Given the description of an element on the screen output the (x, y) to click on. 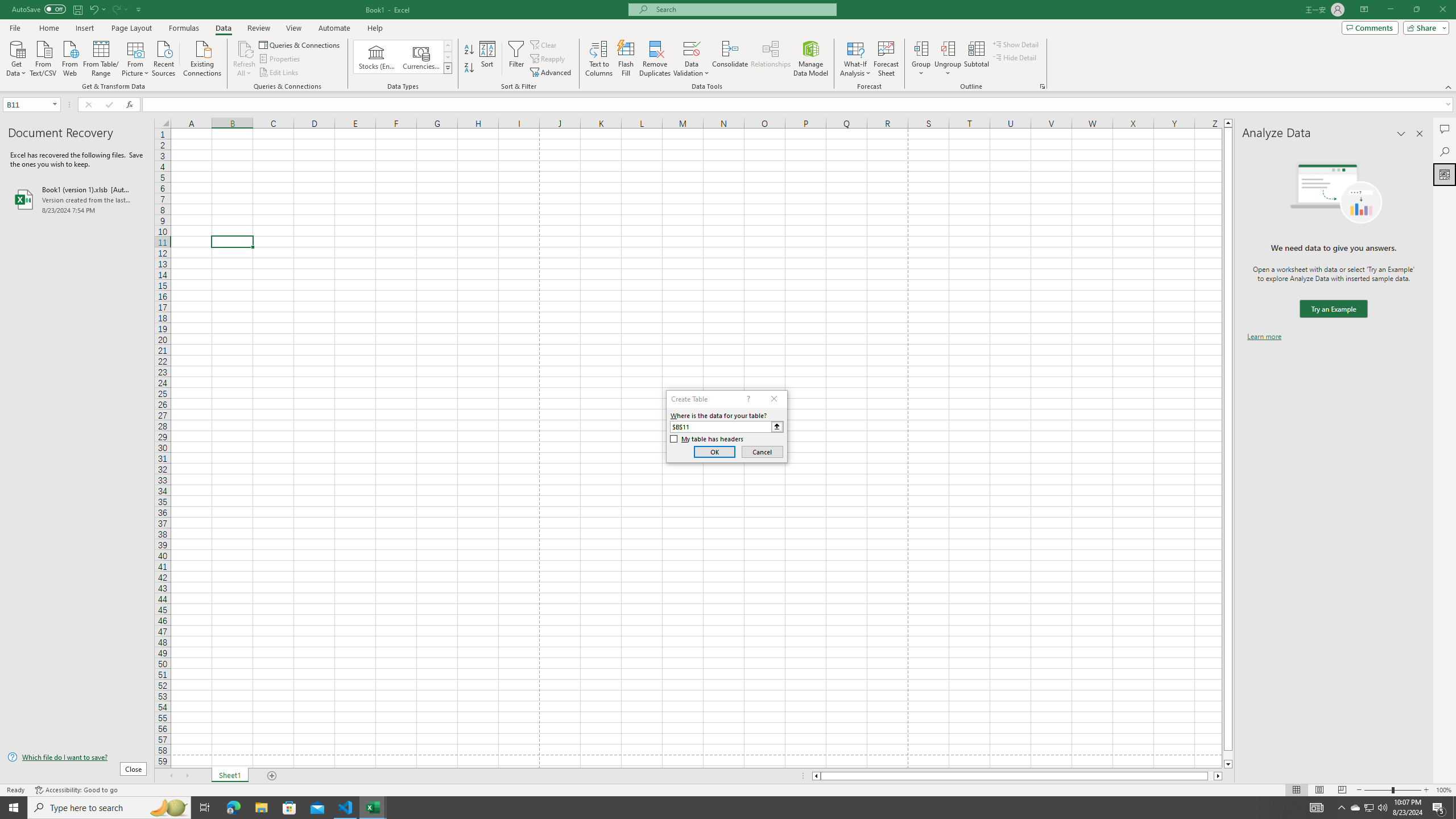
Class: MsoCommandBar (728, 45)
From Text/CSV (43, 57)
What-If Analysis (855, 58)
Recent Sources (163, 57)
Analyze Data (1444, 173)
Search (1444, 151)
